Given the description of an element on the screen output the (x, y) to click on. 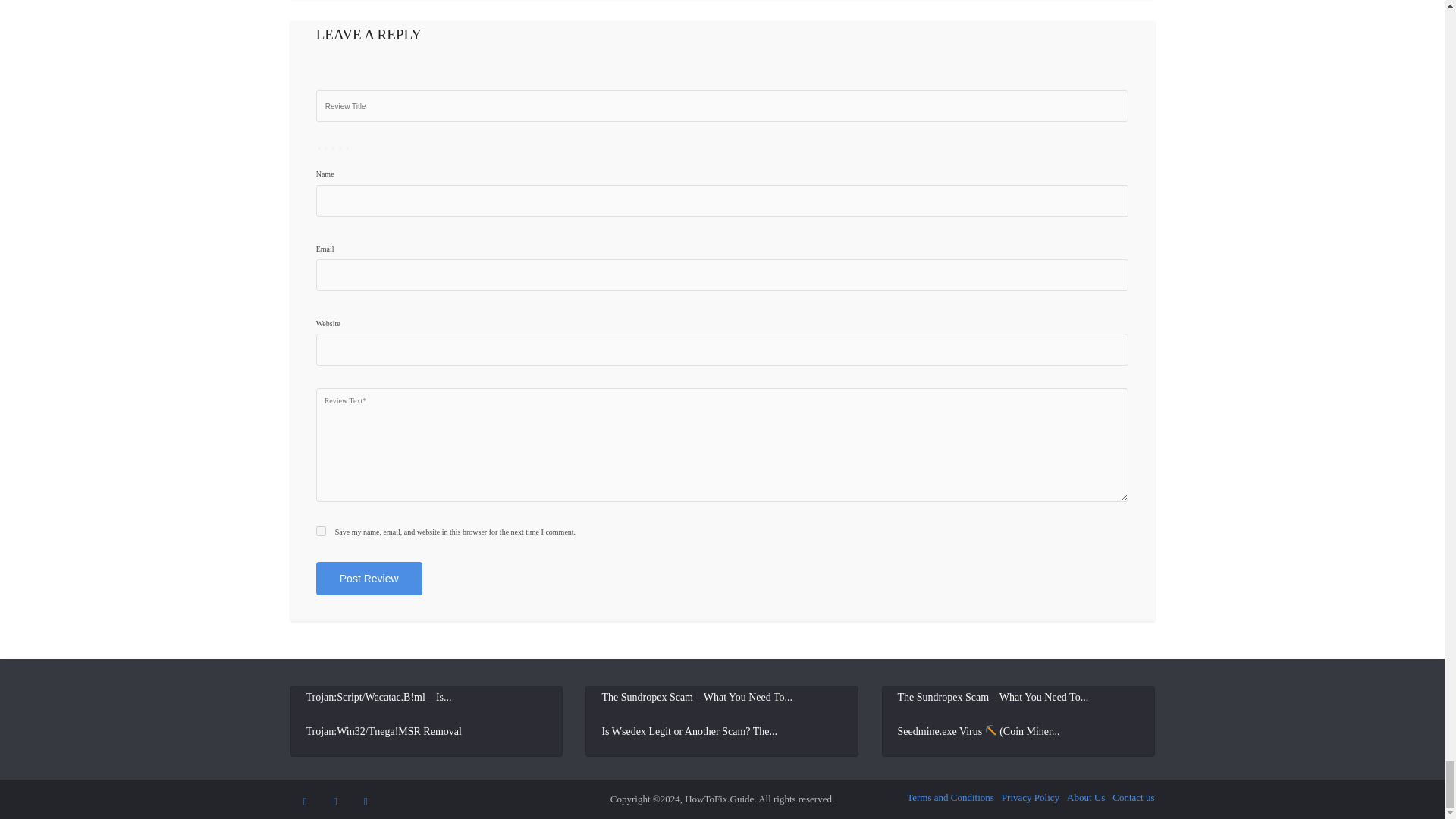
Post Review (368, 578)
yes (320, 531)
